Given the description of an element on the screen output the (x, y) to click on. 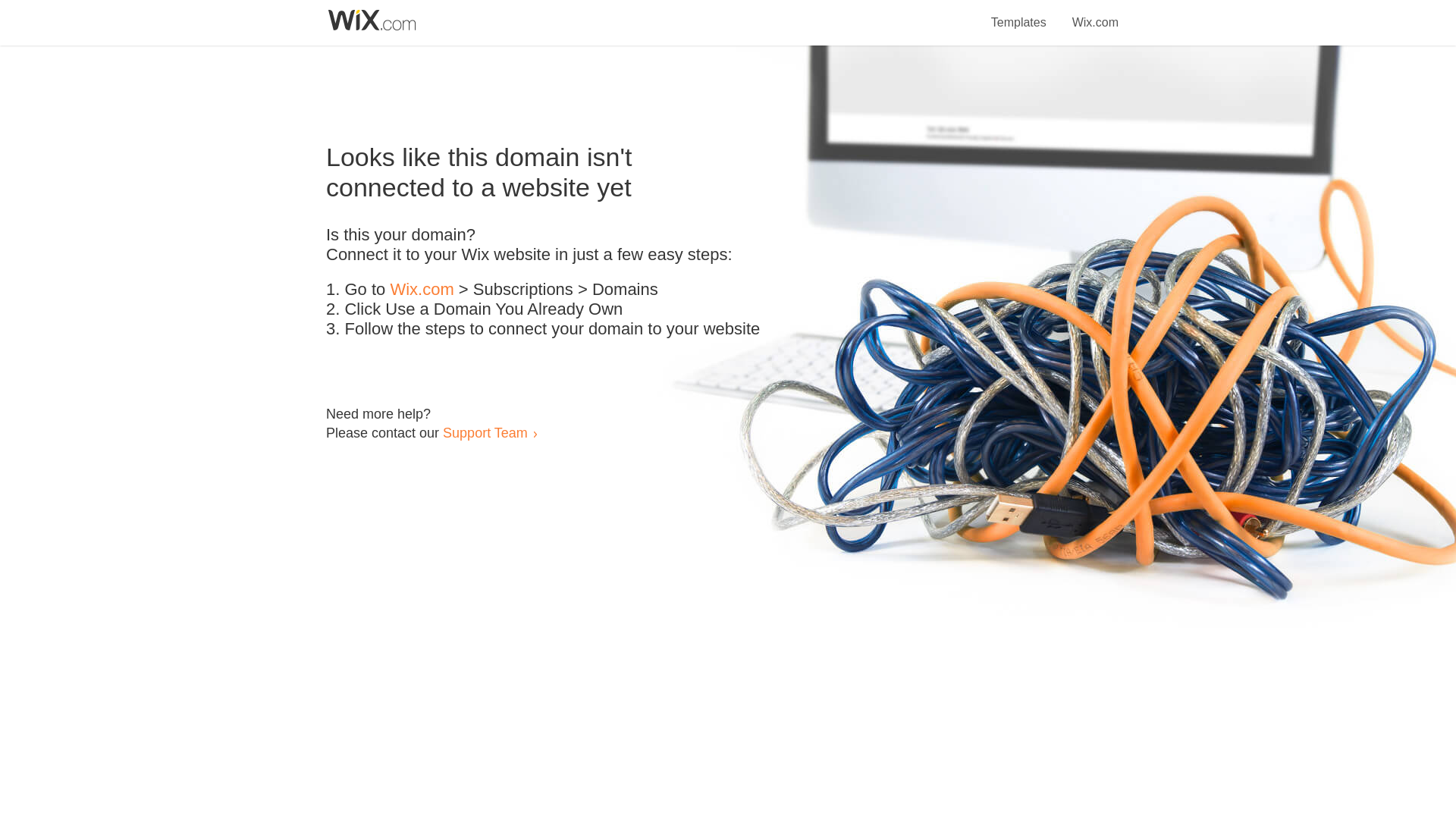
Support Team (484, 432)
Wix.com (1095, 14)
Templates (1018, 14)
Wix.com (421, 289)
